Given the description of an element on the screen output the (x, y) to click on. 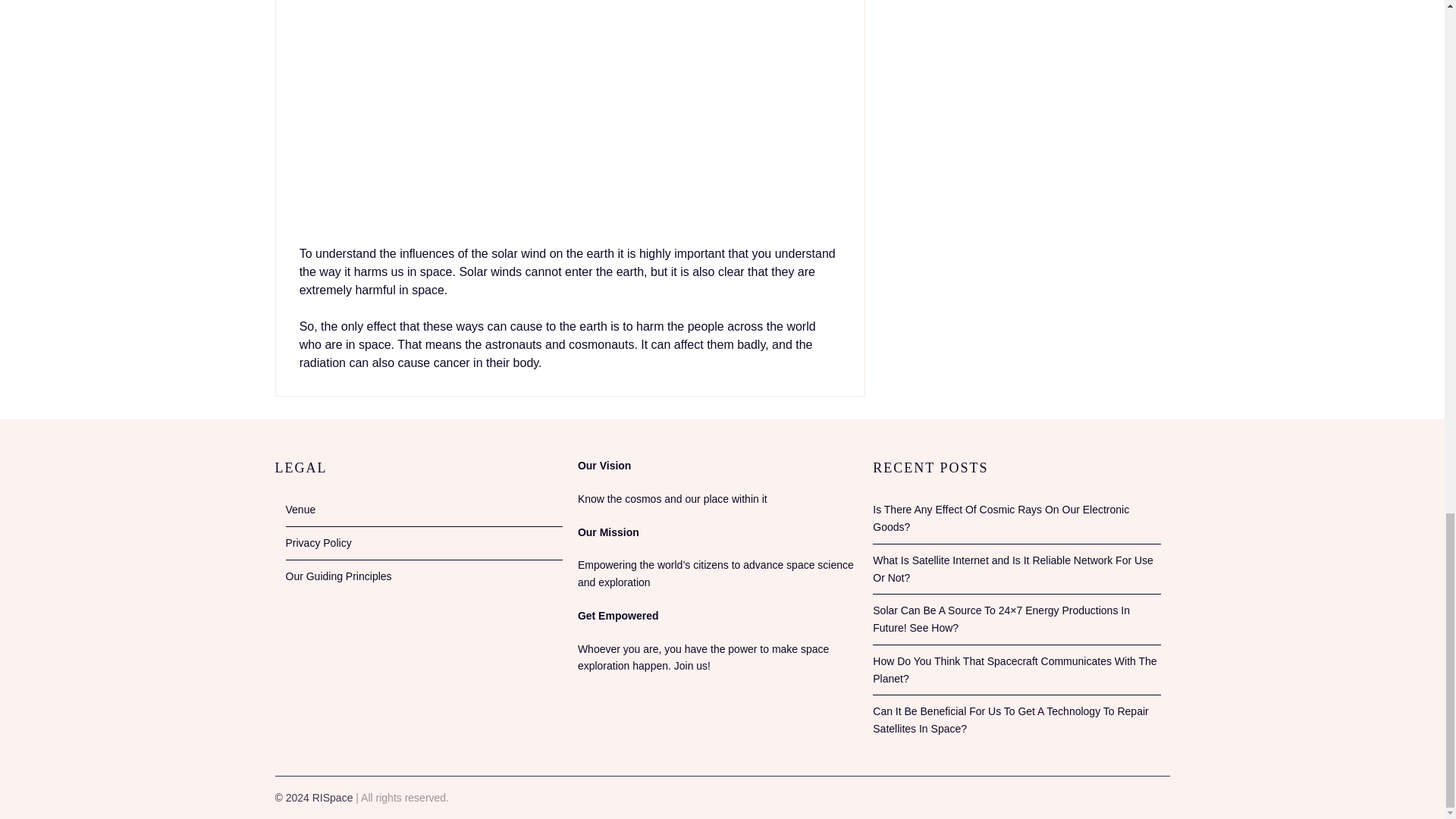
Privacy Policy (317, 542)
Our Guiding Principles (338, 576)
Venue (300, 509)
Is There Any Effect Of Cosmic Rays On Our Electronic Goods? (1000, 518)
